Given the description of an element on the screen output the (x, y) to click on. 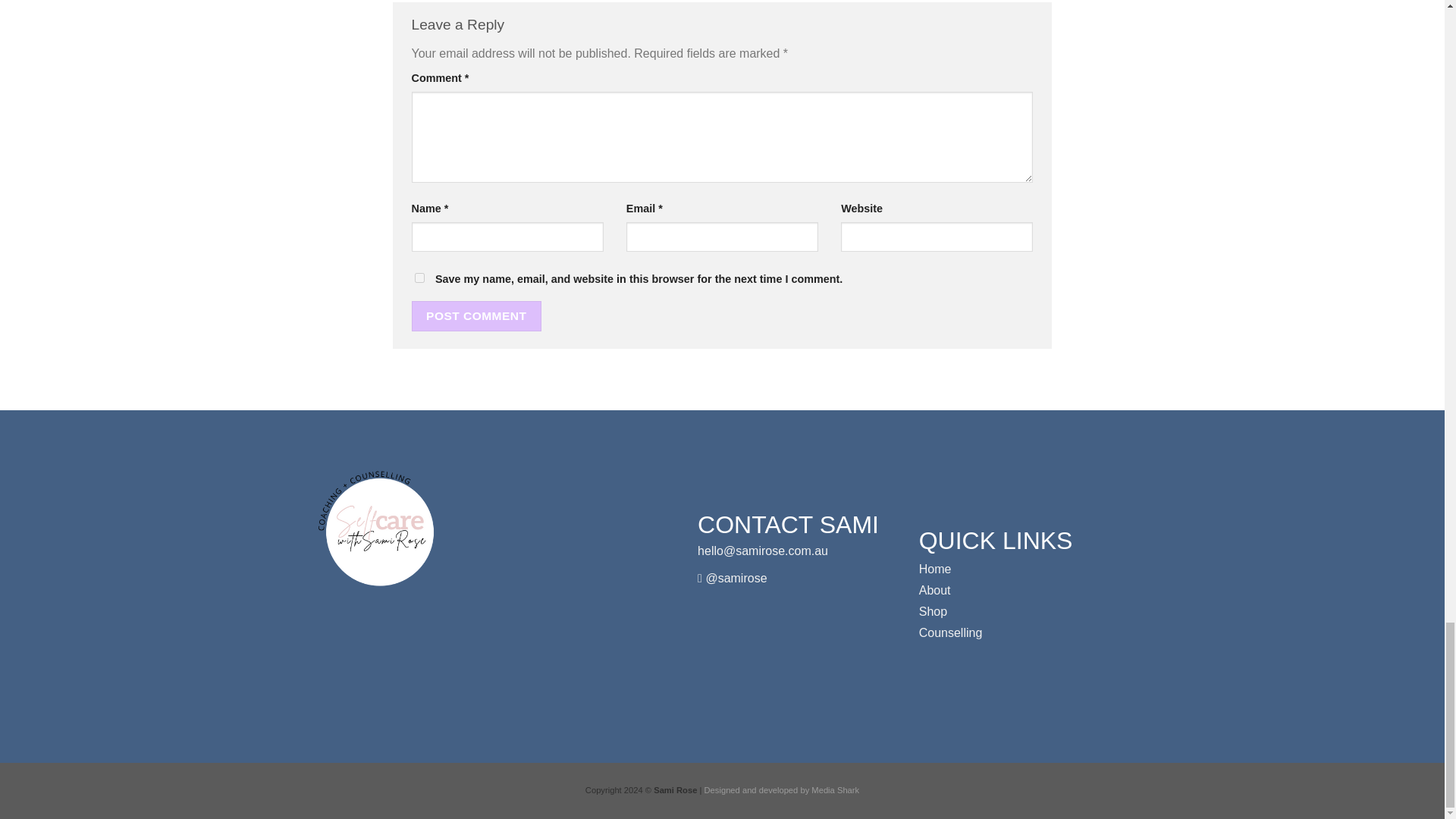
Designed and developed by Media Shark (782, 789)
Counselling (950, 632)
Shop (932, 611)
Post Comment (475, 315)
yes (418, 277)
Home (935, 568)
Post Comment (475, 315)
About (934, 590)
